Given the description of an element on the screen output the (x, y) to click on. 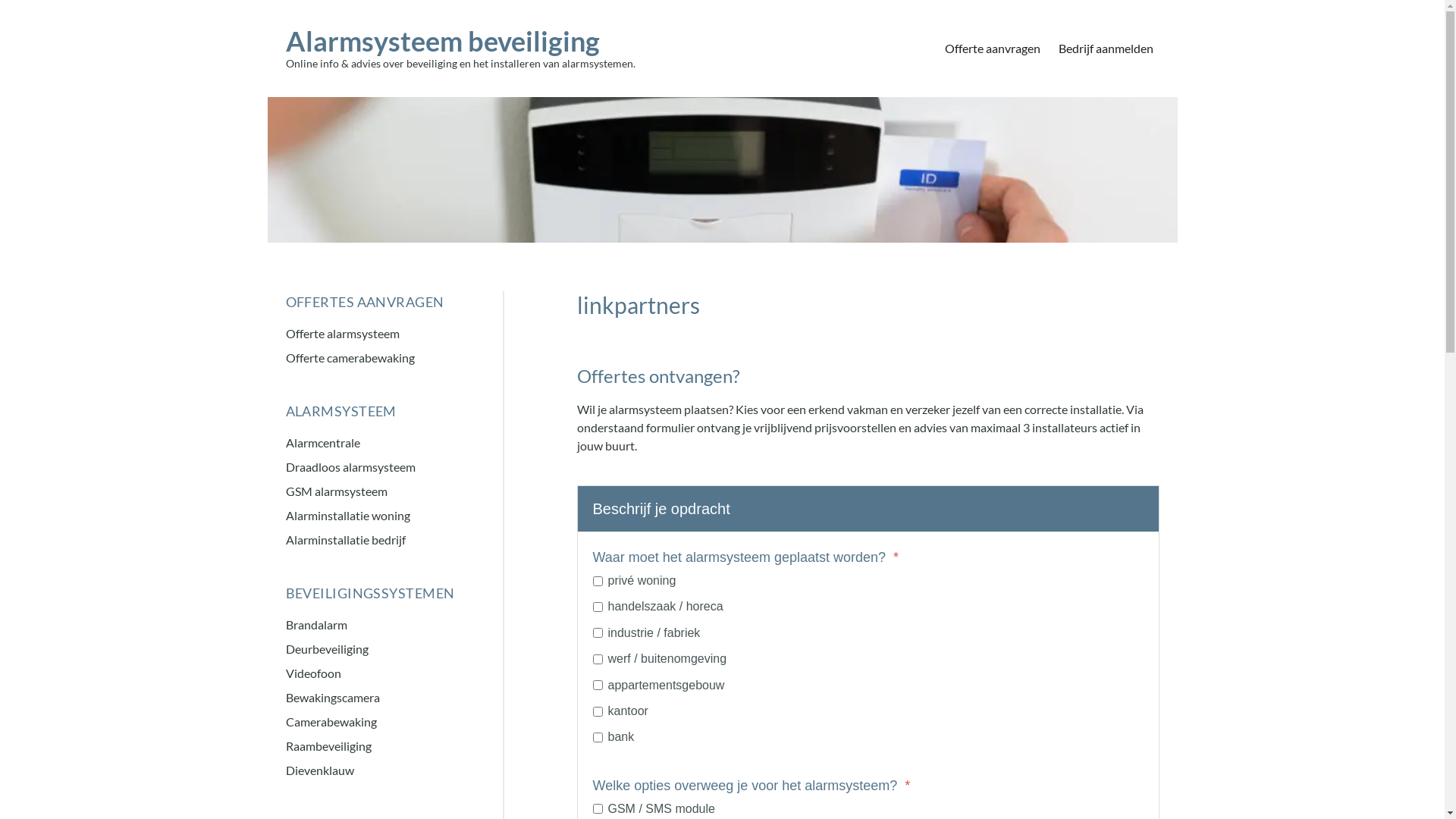
Offerte alarmsysteem Element type: text (381, 333)
Offerte aanvragen Element type: text (992, 47)
GSM alarmsysteem Element type: text (381, 491)
Bedrijf aanmelden Element type: text (1105, 47)
Alarmsysteem beveiliging Element type: text (459, 40)
Dievenklauw Element type: text (381, 770)
Alarminstallatie bedrijf Element type: text (381, 539)
Brandalarm Element type: text (381, 624)
Offerte camerabewaking Element type: text (381, 357)
Deurbeveiliging Element type: text (381, 649)
Raambeveiliging Element type: text (381, 746)
Draadloos alarmsysteem Element type: text (381, 467)
Videofoon Element type: text (381, 673)
Alarmcentrale Element type: text (381, 442)
Bewakingscamera Element type: text (381, 697)
Camerabewaking Element type: text (381, 721)
Alarminstallatie woning Element type: text (381, 515)
